Given the description of an element on the screen output the (x, y) to click on. 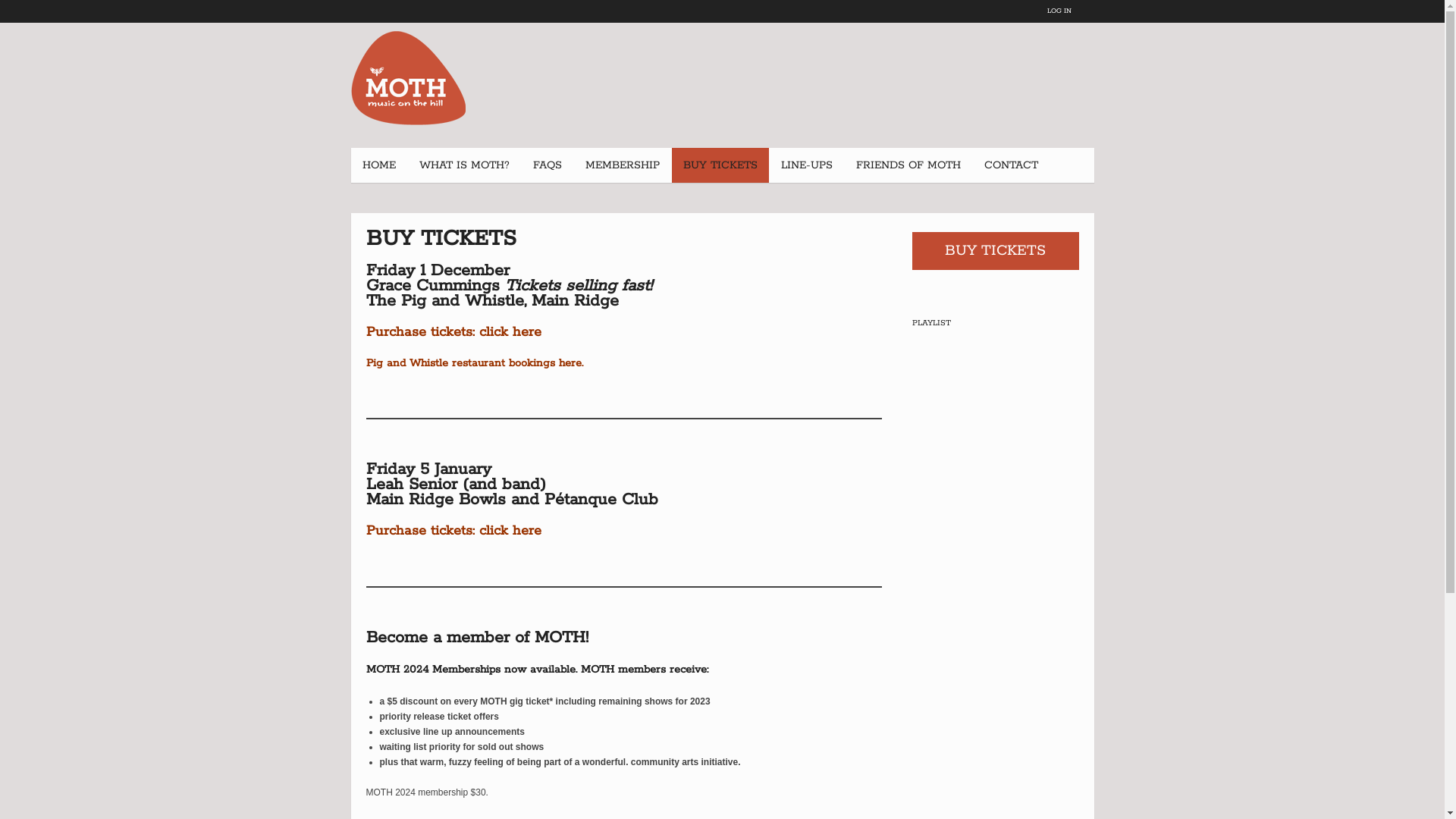
BUY TICKETS Element type: text (994, 250)
BUY TICKETS Element type: text (719, 164)
FAQS Element type: text (547, 164)
HOME Element type: text (378, 164)
LOG IN Element type: text (1058, 11)
FRIENDS OF MOTH Element type: text (908, 164)
Pig and Whistle restaurant bookings here. Element type: text (473, 363)
WHAT IS MOTH? Element type: text (463, 164)
CONTACT Element type: text (1010, 164)
Purchase tickets: click here Element type: text (452, 530)
MEMBERSHIP Element type: text (621, 164)
LINE-UPS Element type: text (805, 164)
Purchase tickets: click here Element type: text (452, 331)
